Given the description of an element on the screen output the (x, y) to click on. 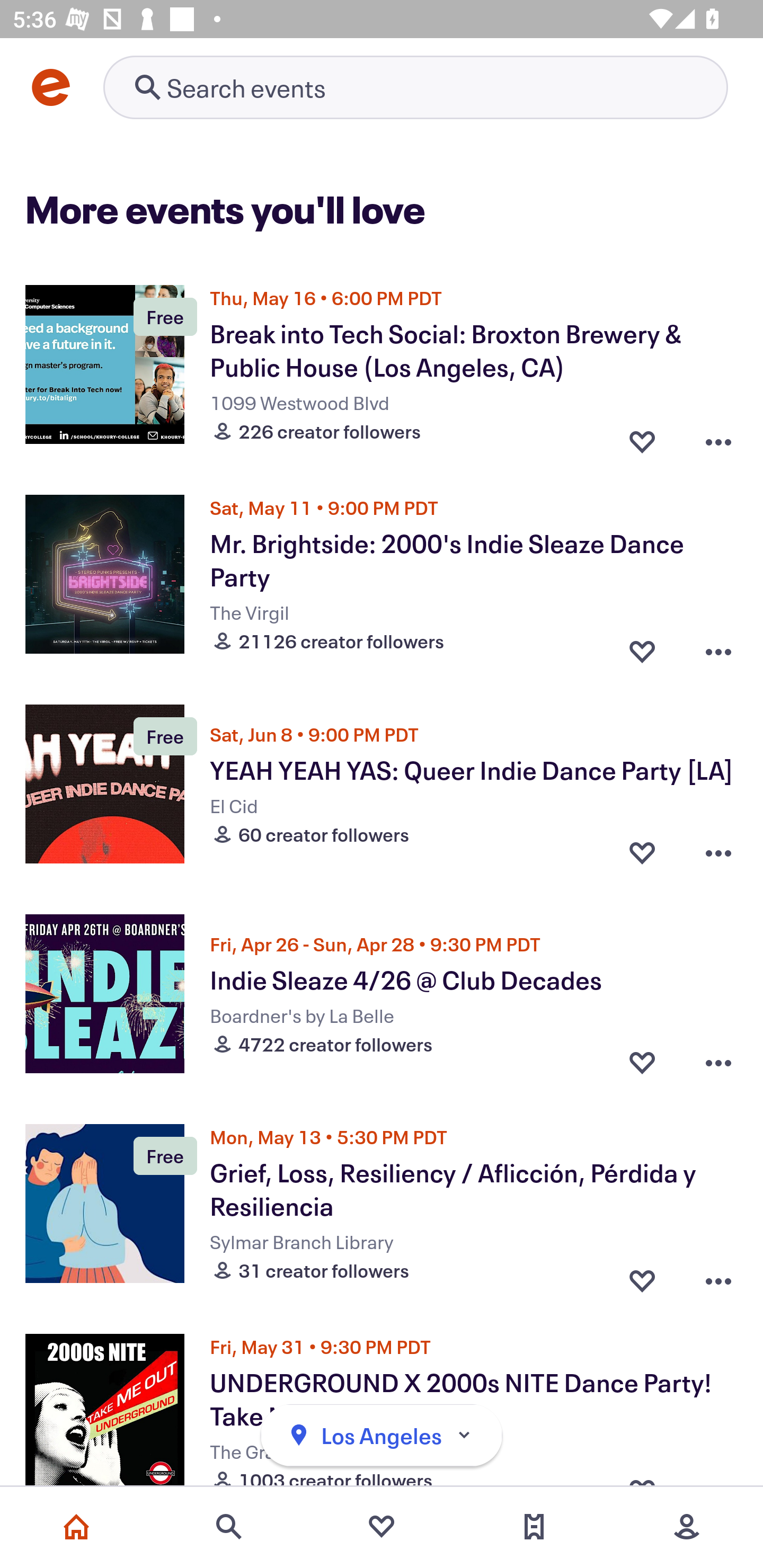
Retry's image Search events (415, 86)
Favorite button (642, 436)
Overflow menu button (718, 436)
Favorite button (642, 646)
Overflow menu button (718, 646)
Favorite button (642, 852)
Overflow menu button (718, 852)
Favorite button (642, 1062)
Overflow menu button (718, 1062)
Favorite button (642, 1275)
Overflow menu button (718, 1275)
Los Angeles (381, 1435)
Home (76, 1526)
Search events (228, 1526)
Favorites (381, 1526)
Tickets (533, 1526)
More (686, 1526)
